Given the description of an element on the screen output the (x, y) to click on. 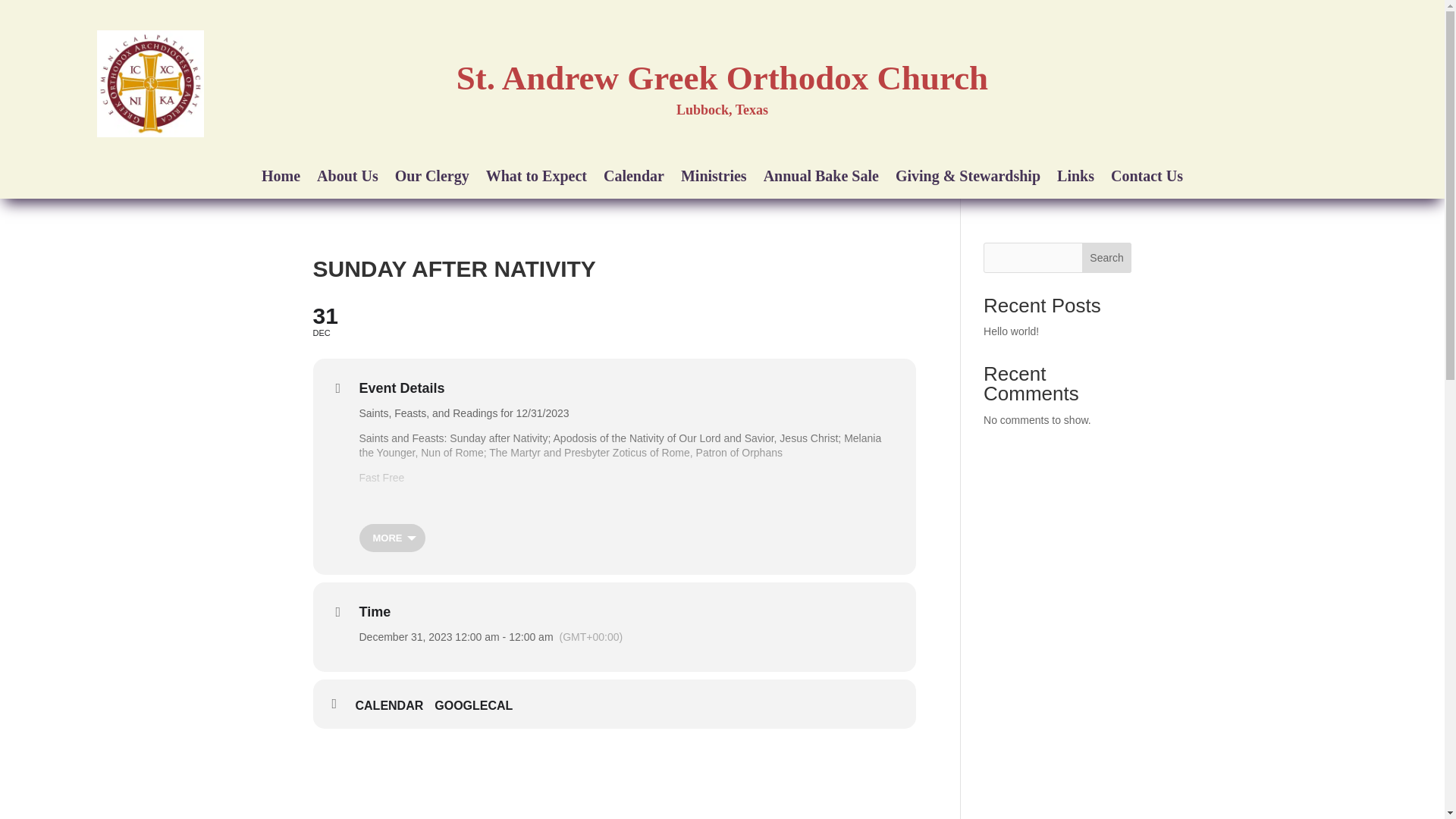
About Us (347, 178)
Contact Us (1146, 178)
Links (1075, 178)
CALENDAR (394, 705)
Hello world! (1011, 331)
Calendar (633, 178)
Home (280, 178)
What to Expect (536, 178)
Add to google calendar (478, 705)
